Given the description of an element on the screen output the (x, y) to click on. 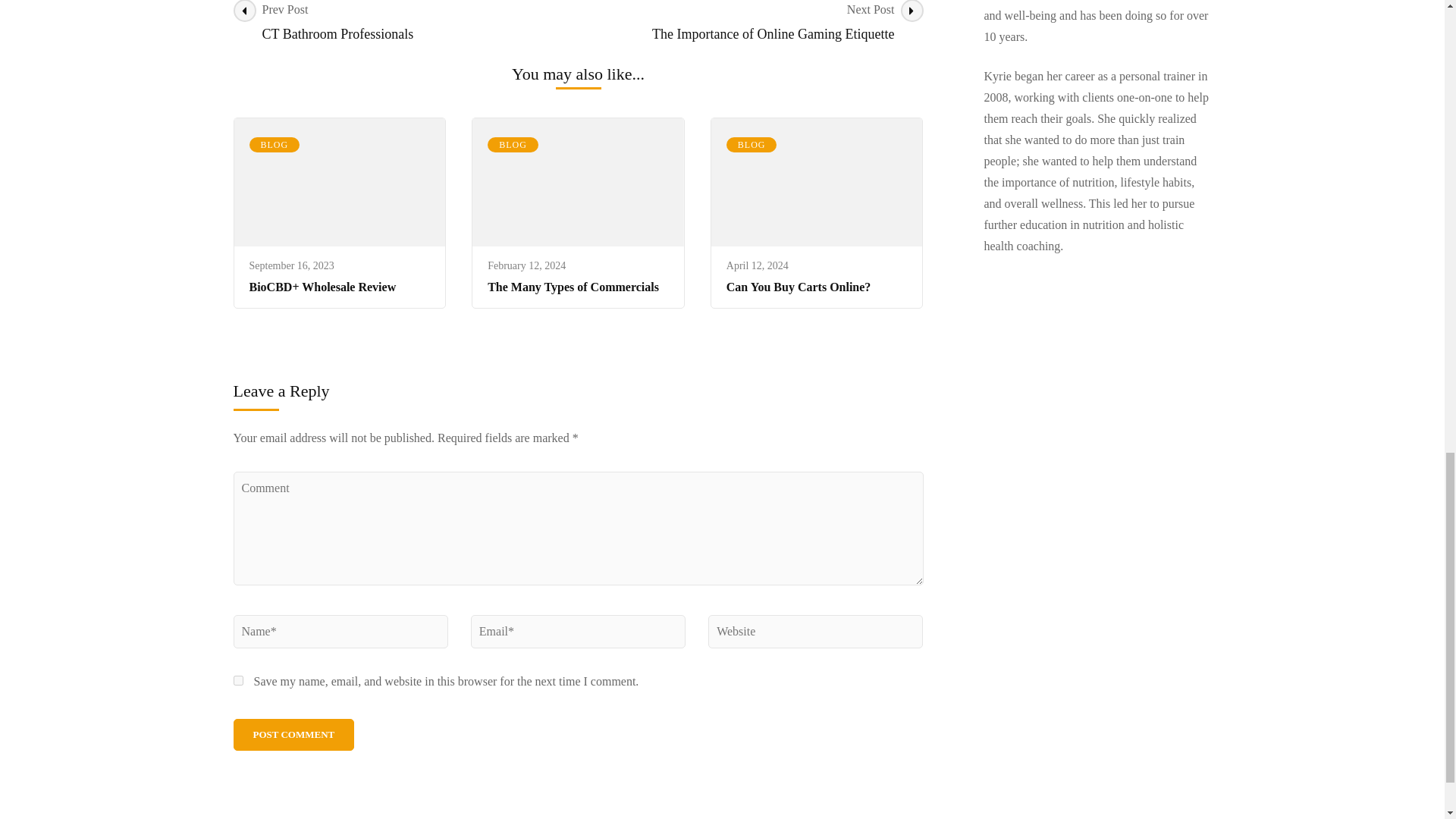
February 12, 2024 (526, 265)
BLOG (273, 144)
yes (237, 680)
BLOG (512, 144)
The Many Types of Commercials (405, 22)
BLOG (573, 286)
Post Comment (751, 144)
September 16, 2023 (293, 735)
